Given the description of an element on the screen output the (x, y) to click on. 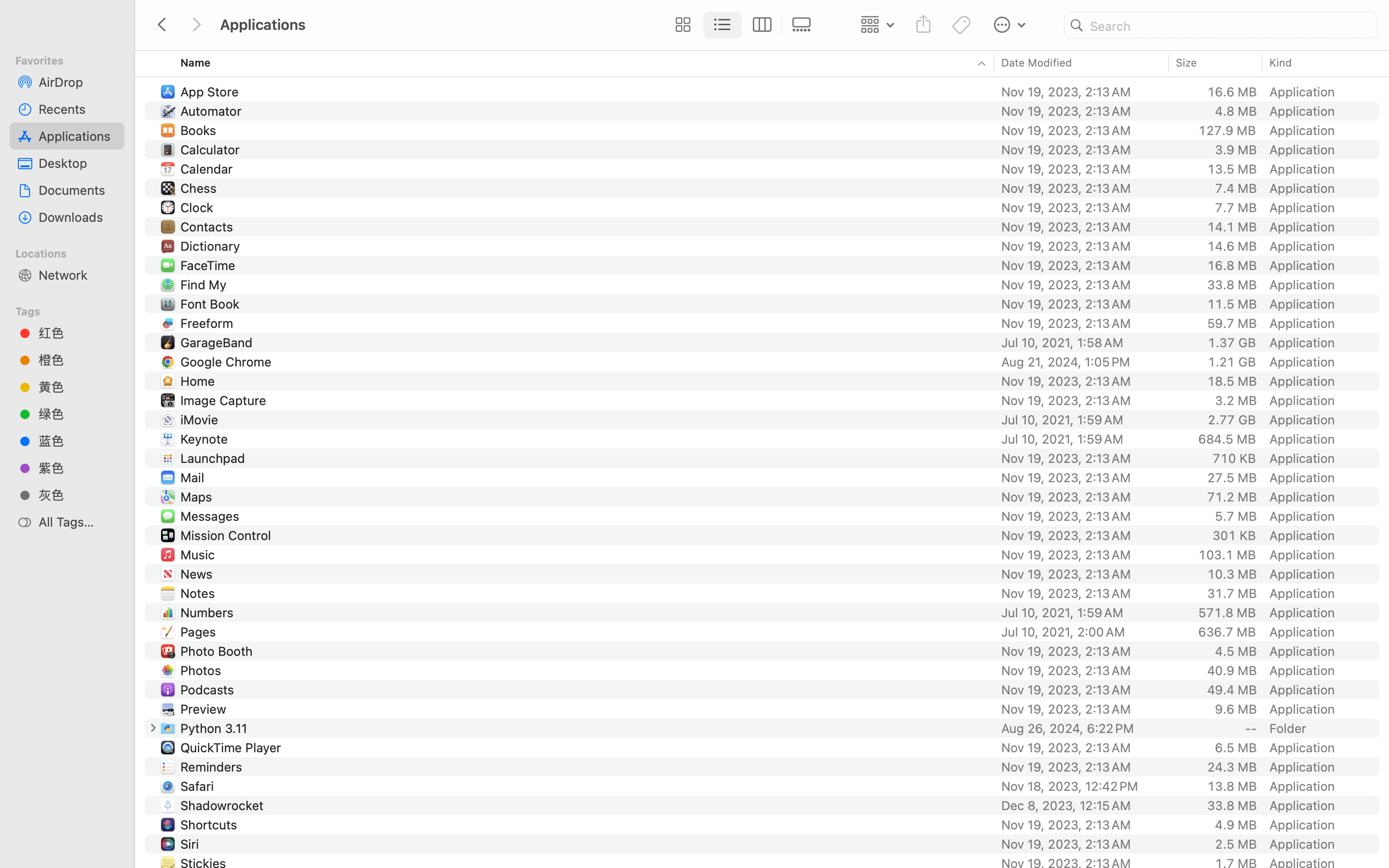
2.77 GB Element type: AXStaticText (1231, 419)
Locations Element type: AXStaticText (72, 252)
GarageBand Element type: AXTextField (218, 342)
103.1 MB Element type: AXStaticText (1226, 554)
71.2 MB Element type: AXStaticText (1231, 496)
